Given the description of an element on the screen output the (x, y) to click on. 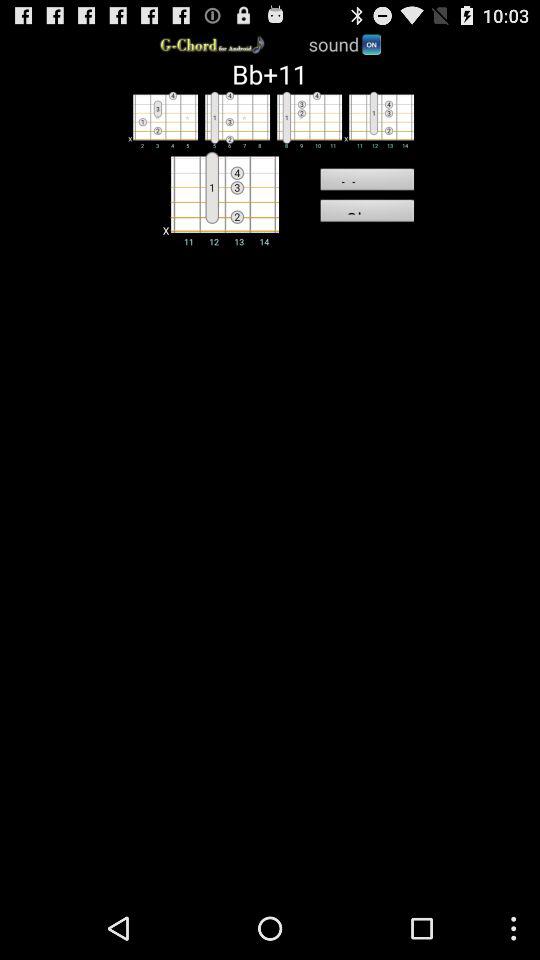
click item next to the sound (371, 43)
